Given the description of an element on the screen output the (x, y) to click on. 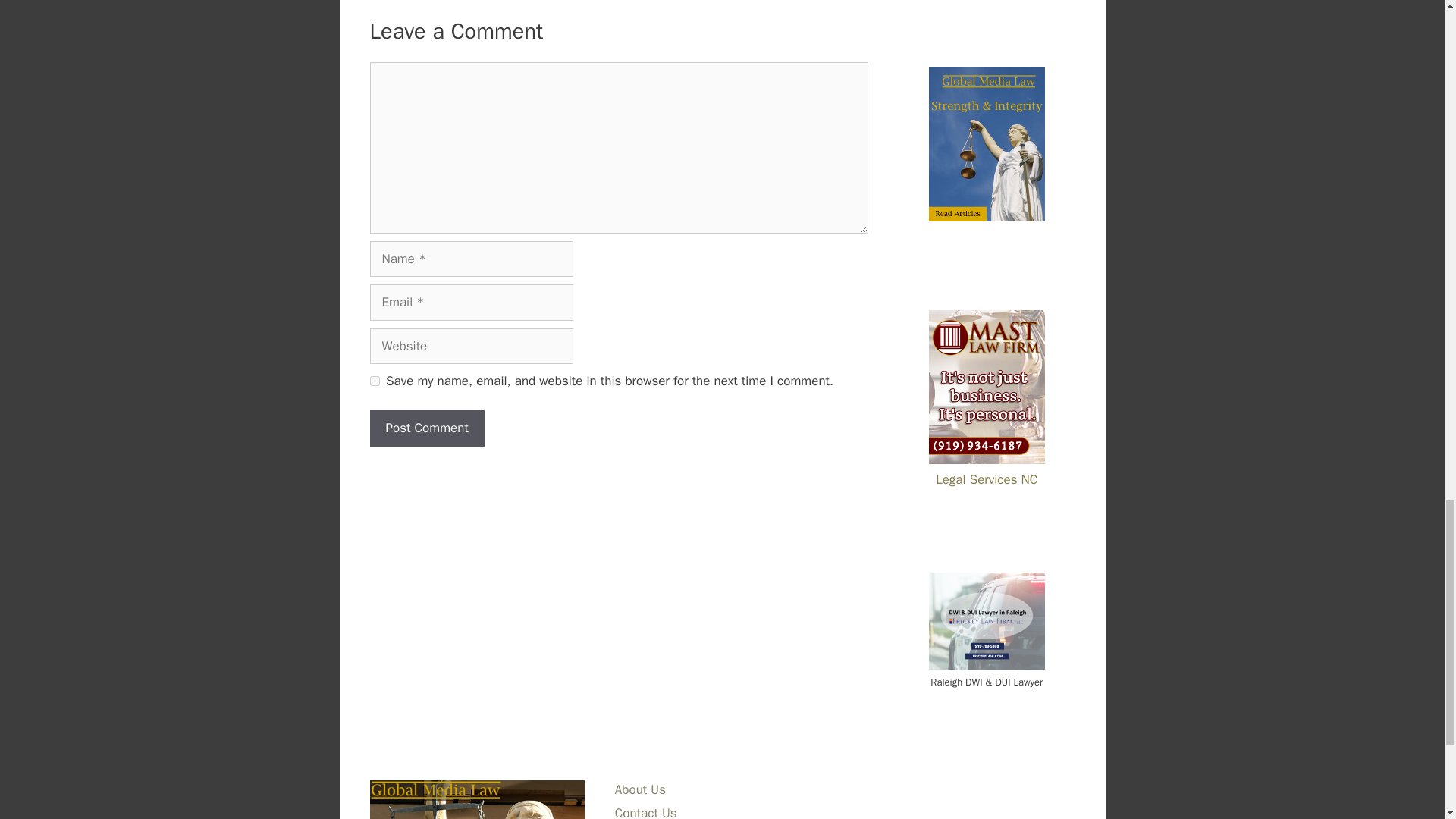
Legal Services NC (986, 469)
Post Comment (426, 428)
Contact Us (645, 812)
Post Comment (426, 428)
yes (374, 380)
About Us (639, 789)
